Given the description of an element on the screen output the (x, y) to click on. 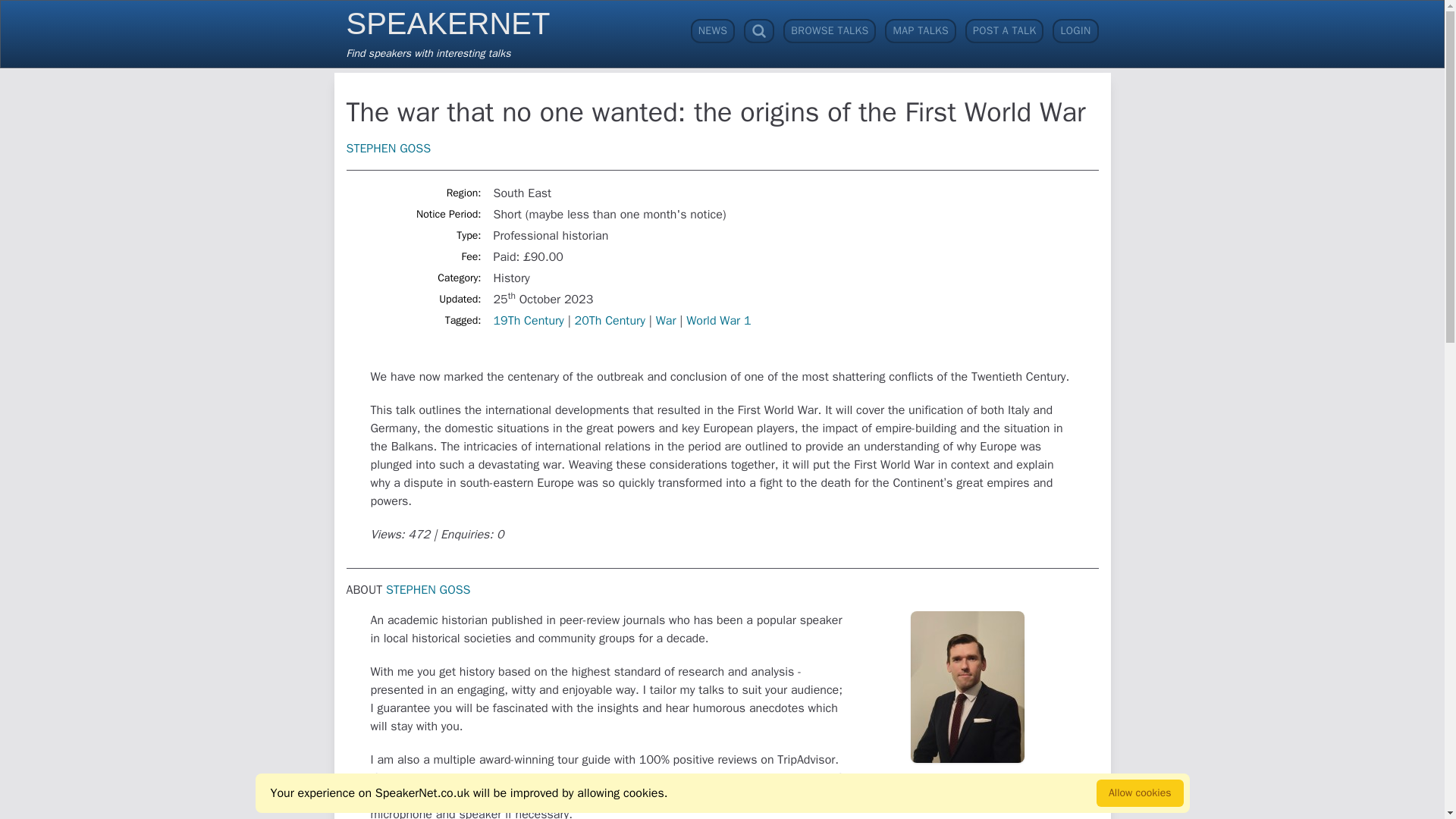
19Th Century (528, 320)
POST A TALK (1003, 30)
LOGIN (1074, 30)
Allow cookies (1139, 792)
MAP TALKS (920, 30)
War (666, 320)
NEWS (713, 30)
STEPHEN GOSS (427, 589)
20Th Century (610, 320)
World War 1 (448, 30)
STEPHEN GOSS (718, 320)
BROWSE TALKS (388, 148)
